Given the description of an element on the screen output the (x, y) to click on. 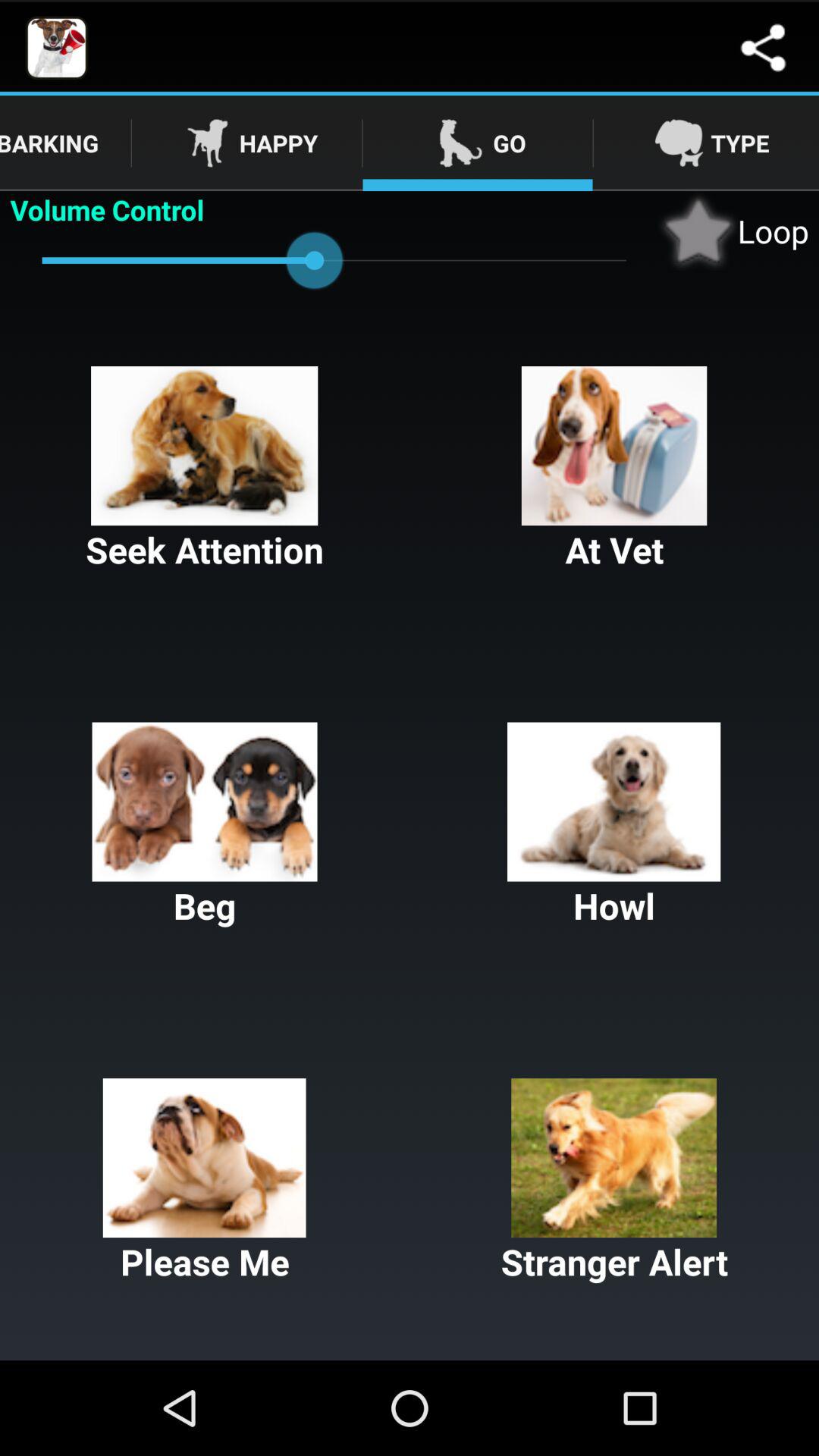
turn on the item above beg (204, 469)
